Given the description of an element on the screen output the (x, y) to click on. 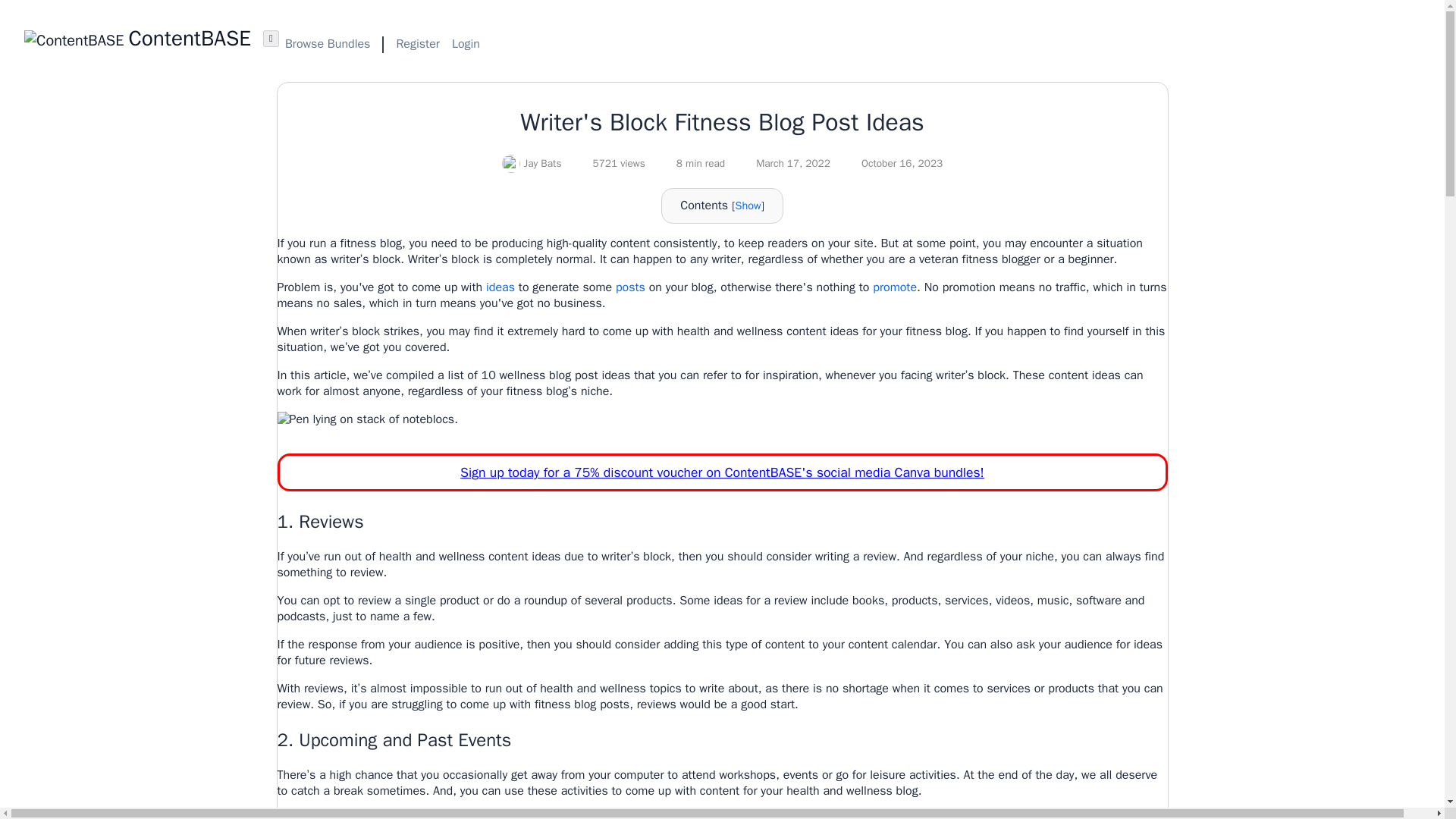
Join ContentBASE. (417, 44)
ContentBASE (137, 37)
The original publication date of this post. (784, 163)
ideas (500, 287)
Log into ContentBASE. (465, 44)
Browse ContentBASE bundles. (327, 44)
Login (465, 44)
Browse Bundles (327, 44)
The date that this post was last updated. (893, 163)
The author of this post. (532, 163)
